Given the description of an element on the screen output the (x, y) to click on. 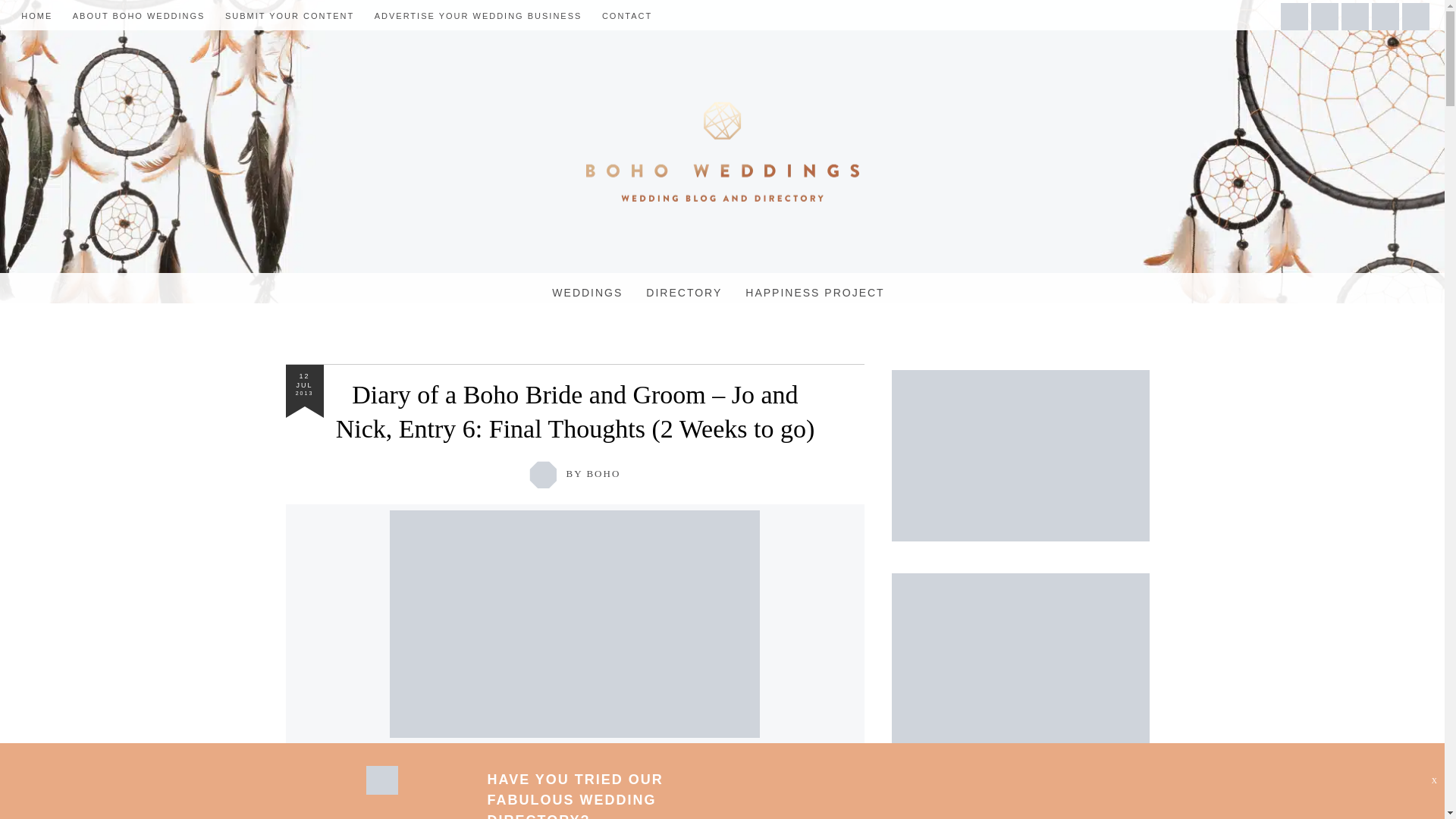
ADVERTISE YOUR WEDDING BUSINESS (478, 16)
Have you tried our fabulous wedding directory? (574, 795)
HOME (36, 16)
SUBMIT YOUR CONTENT (290, 16)
HAPPINESS PROJECT (815, 292)
ABOUT BOHO WEDDINGS (138, 16)
CONTACT (627, 16)
WEDDINGS (587, 292)
Have you tried our fabulous wedding directory? (381, 789)
DIRECTORY (684, 292)
